Given the description of an element on the screen output the (x, y) to click on. 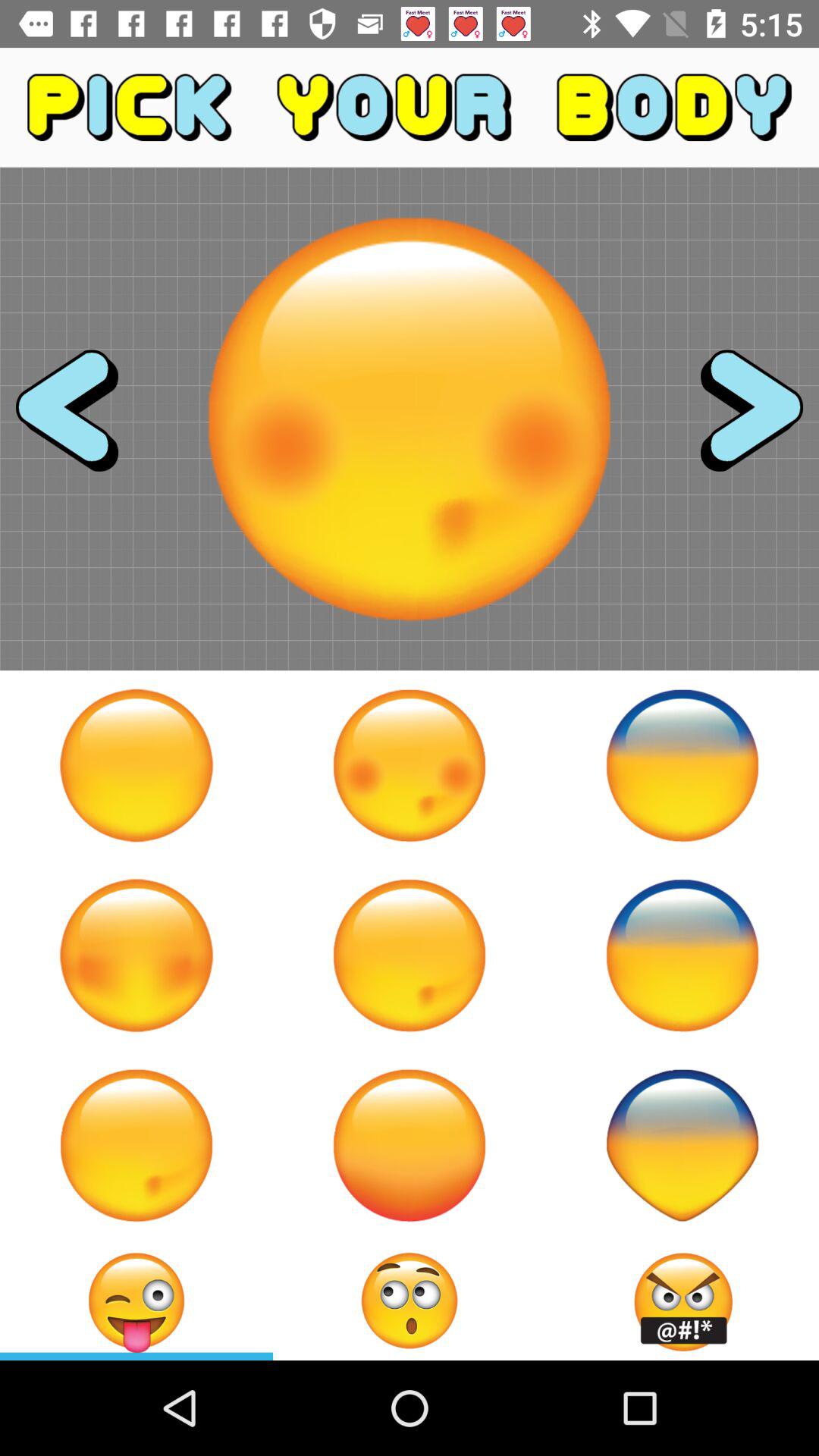
select body (136, 765)
